Given the description of an element on the screen output the (x, y) to click on. 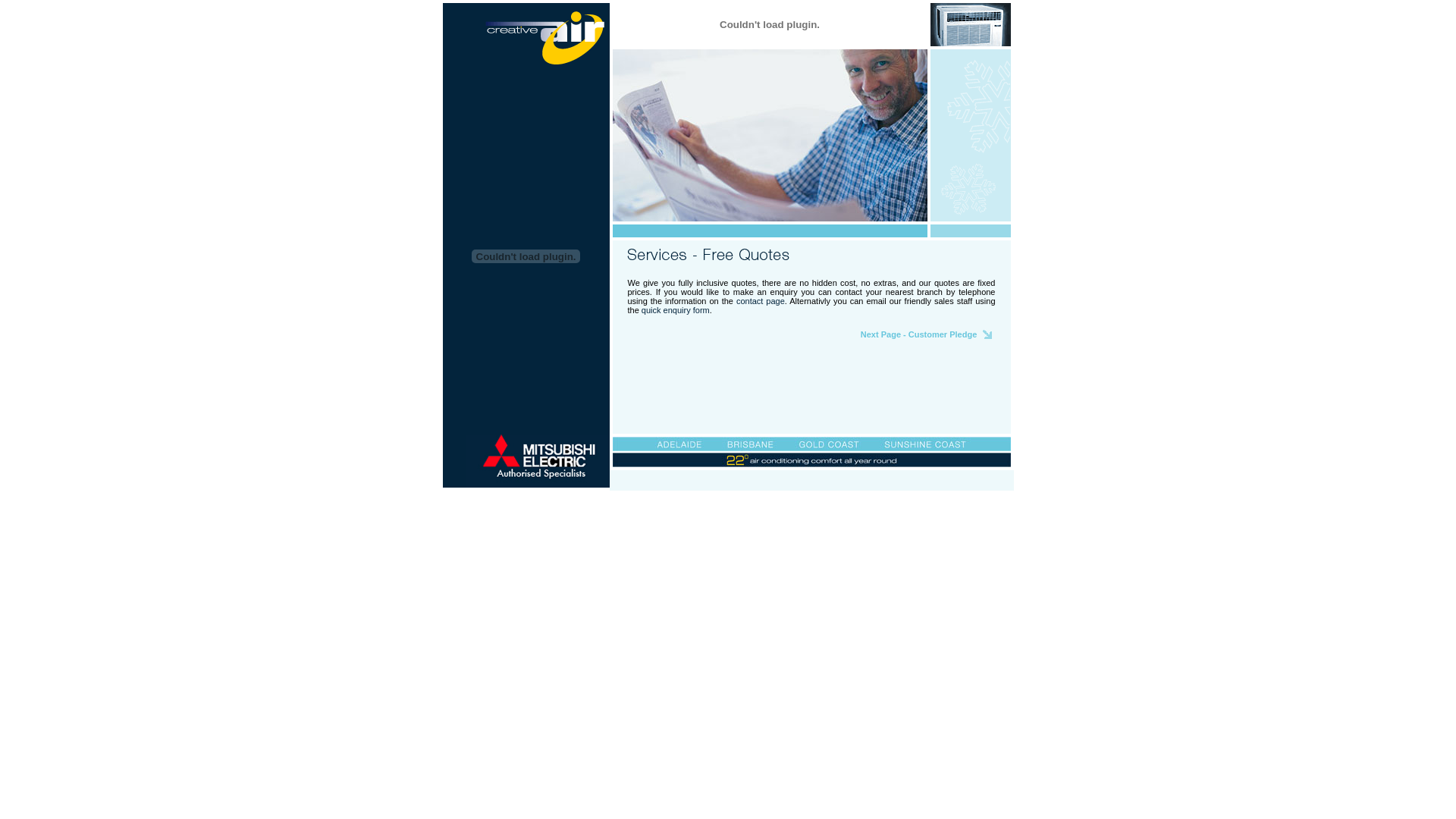
design Element type: text (529, 498)
installation Element type: text (587, 498)
Next Page - Customer Pledge Element type: text (918, 333)
contact page Element type: text (760, 300)
testimonials Element type: text (621, 498)
faq Element type: text (683, 498)
quick enquiry Element type: text (658, 498)
which brand? Element type: text (887, 498)
technical jargon Element type: text (930, 498)
contact us Element type: text (751, 498)
home Element type: text (450, 498)
quick enquiry form Element type: text (675, 309)
what system? Element type: text (847, 498)
customer pledge Element type: text (712, 498)
what size? Element type: text (812, 498)
freequotes Element type: text (556, 498)
services Element type: text (472, 498)
consultancy Element type: text (501, 498)
architects Element type: text (781, 498)
